Given the description of an element on the screen output the (x, y) to click on. 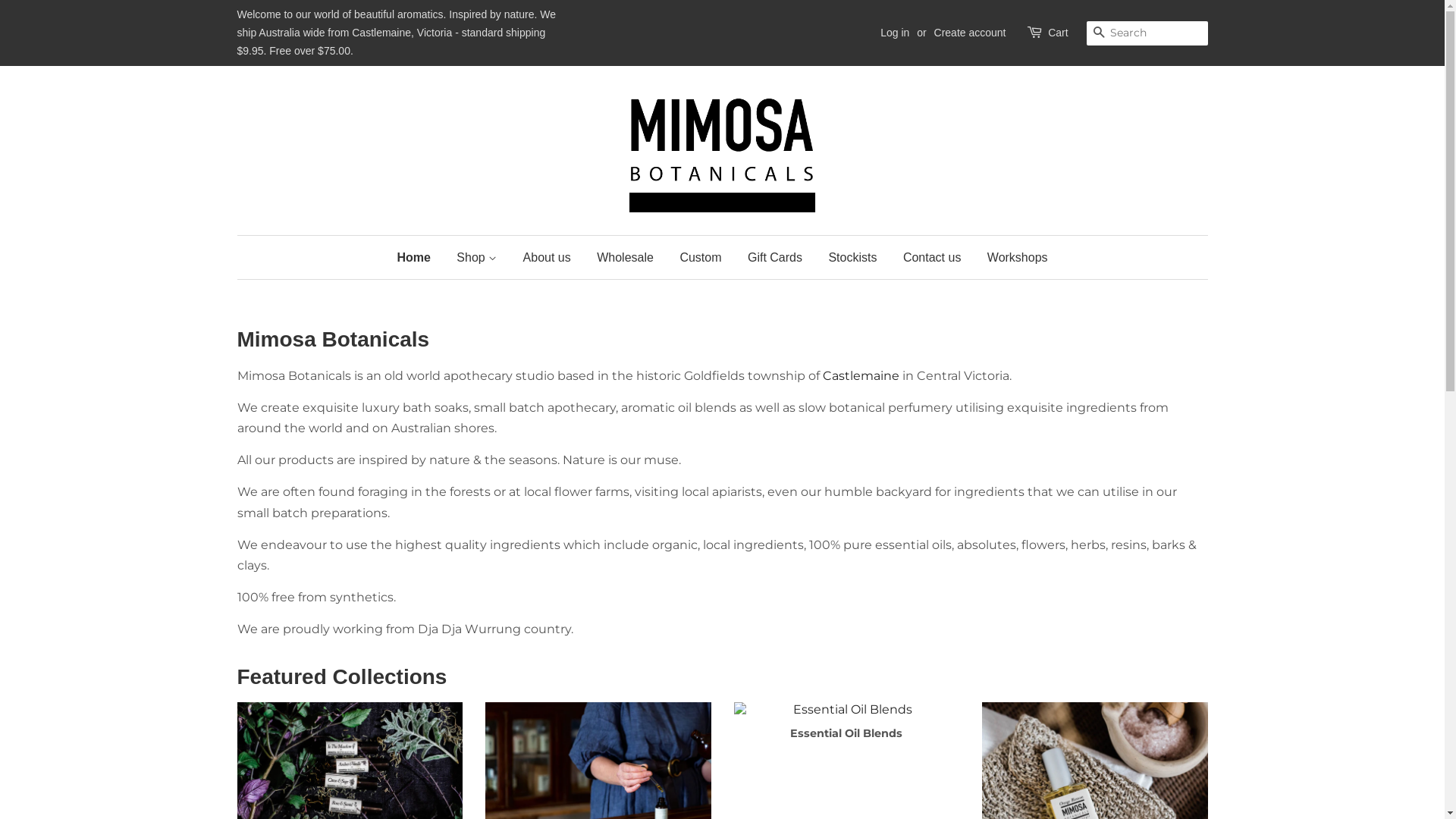
Home Element type: text (418, 257)
Log in Element type: text (894, 32)
Gift Cards Element type: text (774, 257)
Search Element type: text (1097, 33)
Stockists Element type: text (852, 257)
Cart Element type: text (1057, 33)
Custom Element type: text (700, 257)
About us Element type: text (546, 257)
Shop Element type: text (476, 257)
Create account Element type: text (970, 32)
Workshops Element type: text (1011, 257)
Essential Oil Blends Element type: text (847, 734)
Wholesale Element type: text (625, 257)
Contact us Element type: text (931, 257)
Castlemaine Element type: text (858, 375)
